Given the description of an element on the screen output the (x, y) to click on. 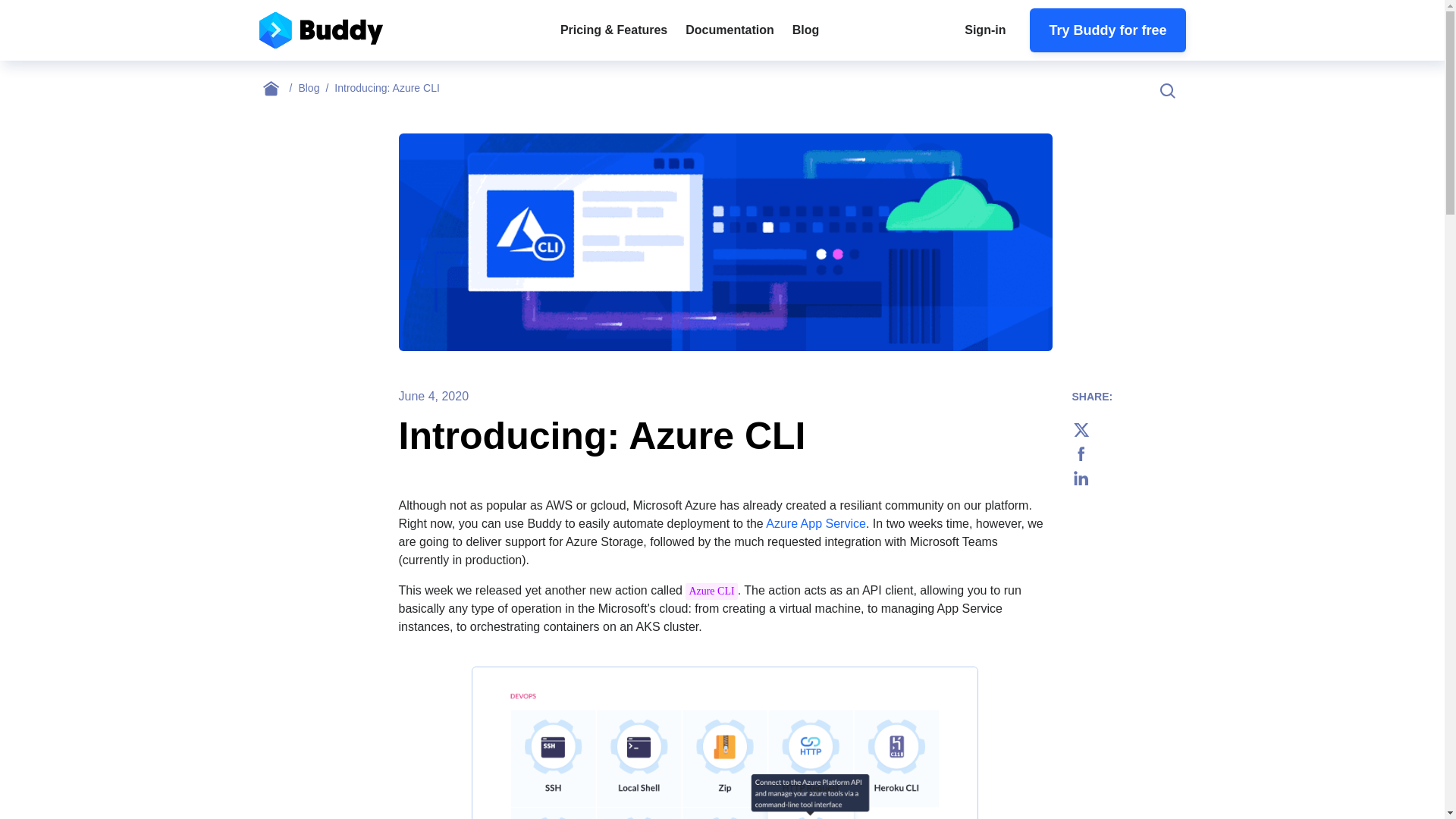
Documentation (729, 30)
Blog (316, 87)
Try Buddy for free (1107, 30)
Azure App Service (815, 522)
Sign-in (984, 30)
Blog (805, 30)
